Given the description of an element on the screen output the (x, y) to click on. 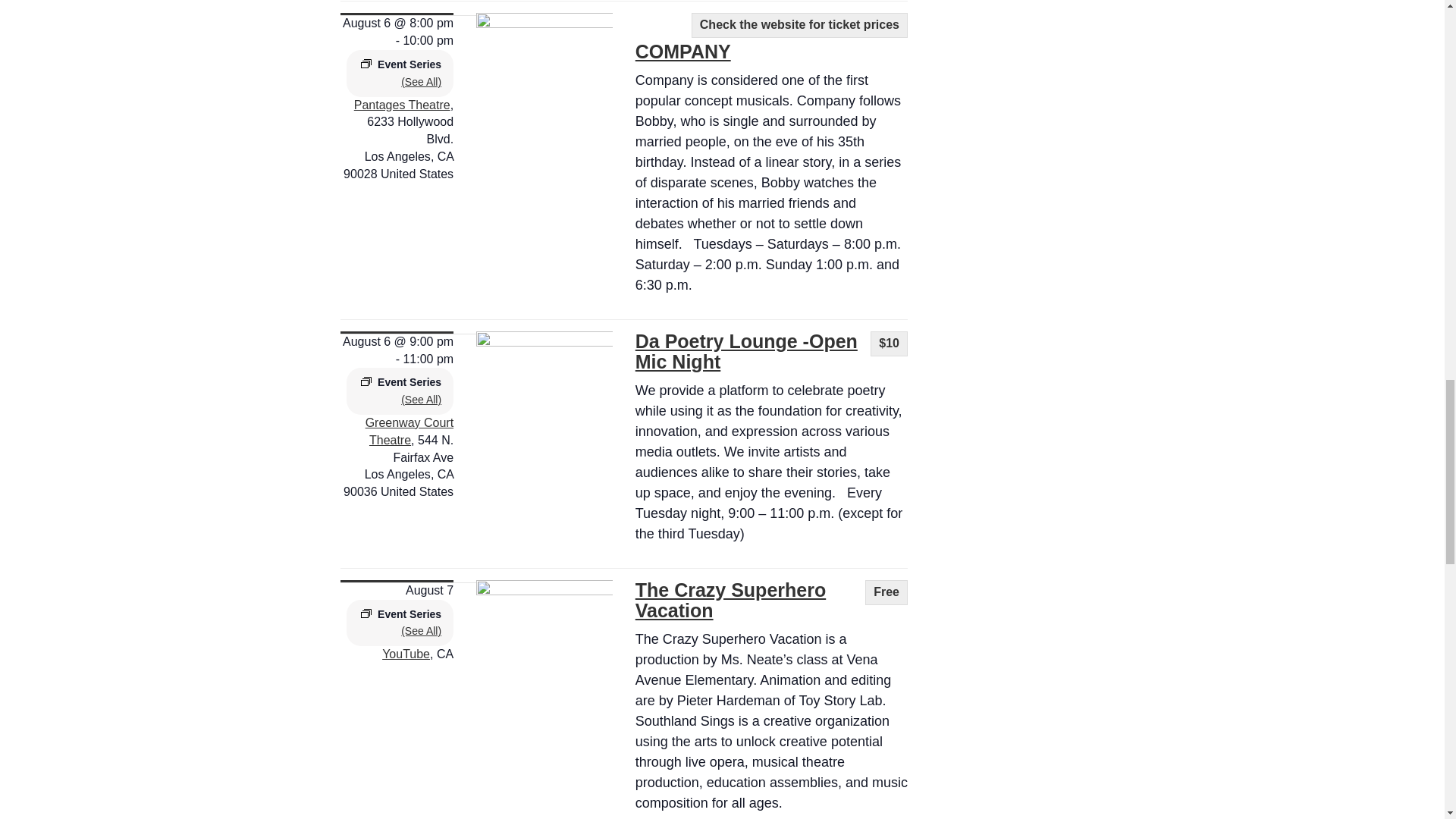
Event Series (366, 380)
COMPANY (682, 51)
California (445, 155)
Event Series (366, 62)
Event Series (366, 613)
Greenway Court Theatre (409, 431)
Pantages Theatre (401, 104)
